Given the description of an element on the screen output the (x, y) to click on. 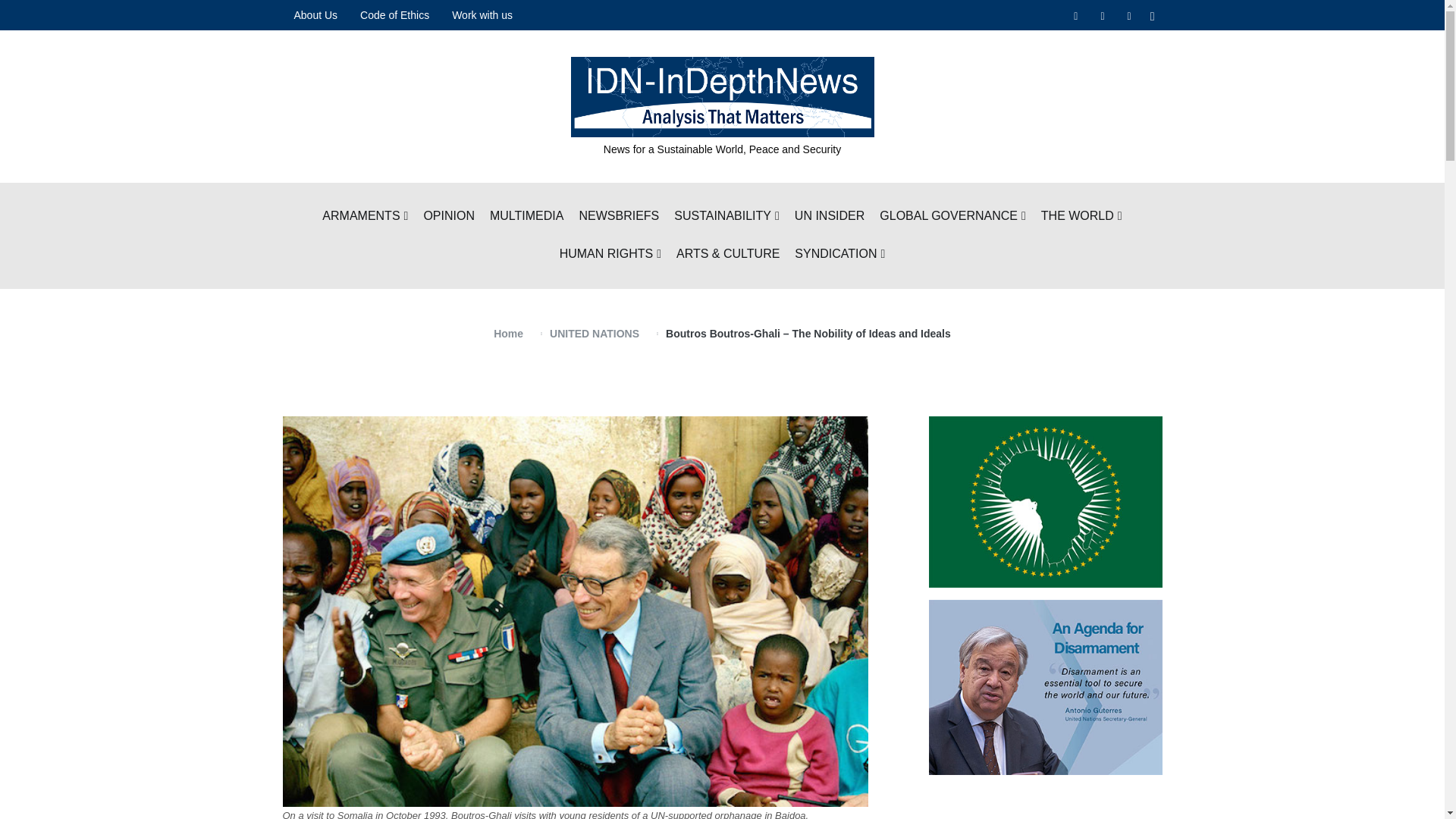
UN INSIDER (829, 216)
OPINION (448, 216)
About Us (315, 14)
Work with us (482, 14)
MULTIMEDIA (526, 216)
GLOBAL GOVERNANCE (952, 216)
SUSTAINABILITY (726, 216)
ARMAMENTS (364, 216)
Code of Ethics (395, 14)
NEWSBRIEFS (618, 216)
